Given the description of an element on the screen output the (x, y) to click on. 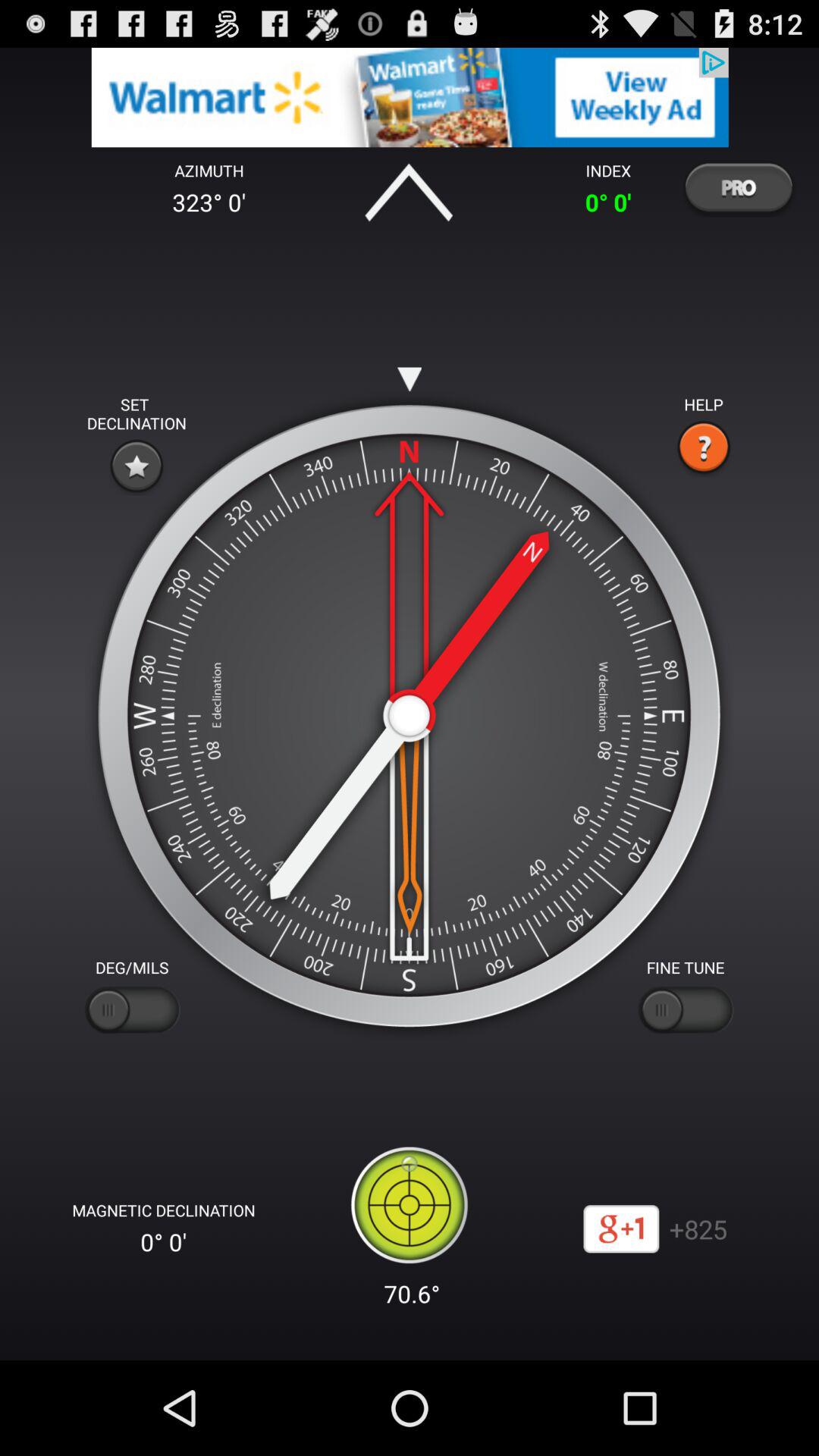
click to advertisements (409, 97)
